Given the description of an element on the screen output the (x, y) to click on. 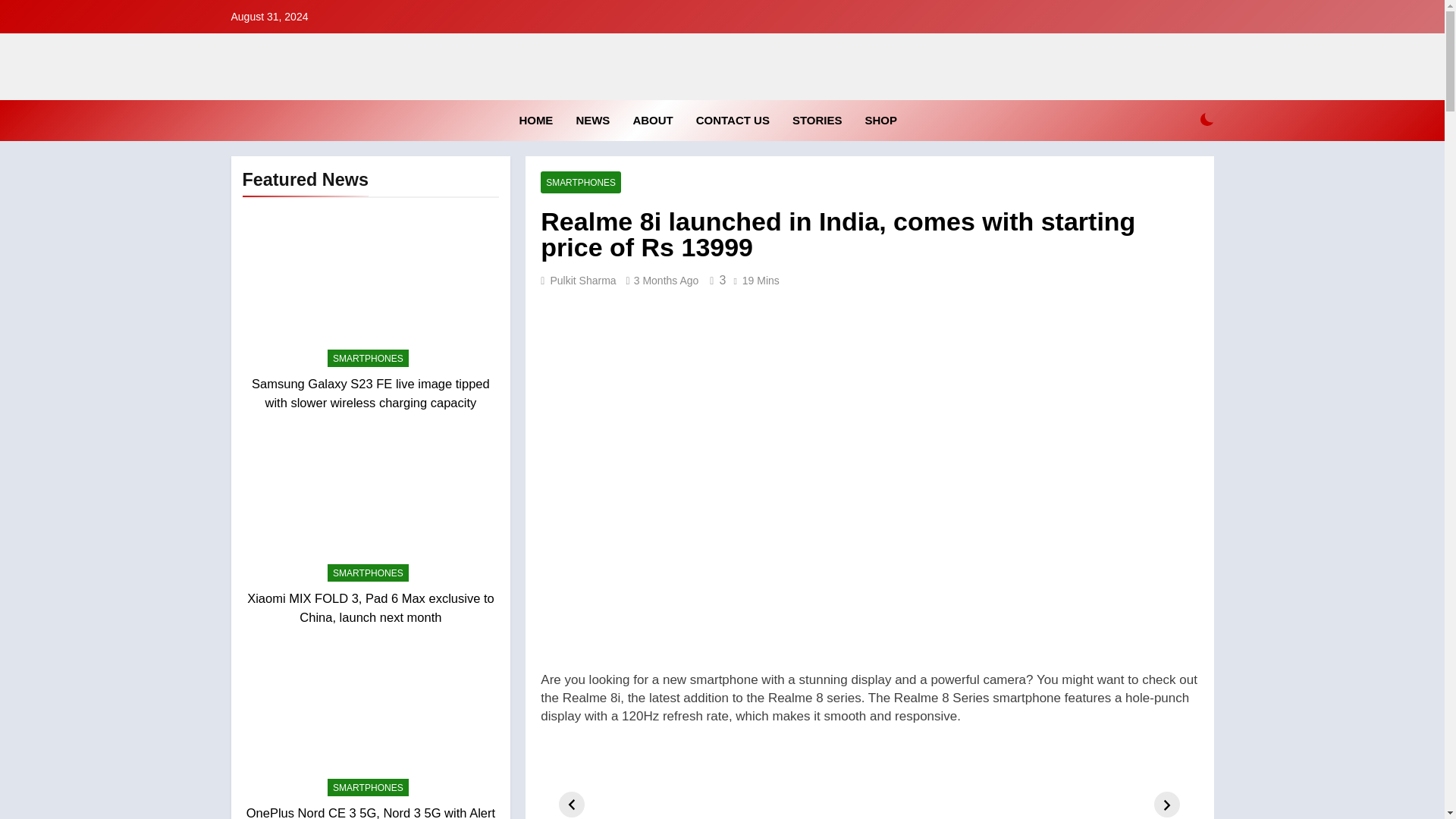
IMPULKITS (597, 112)
NEWS (592, 119)
ABOUT (652, 119)
on (1206, 119)
SMARTPHONES (368, 357)
STORIES (816, 119)
SMARTPHONES (368, 787)
SHOP (880, 119)
